Given the description of an element on the screen output the (x, y) to click on. 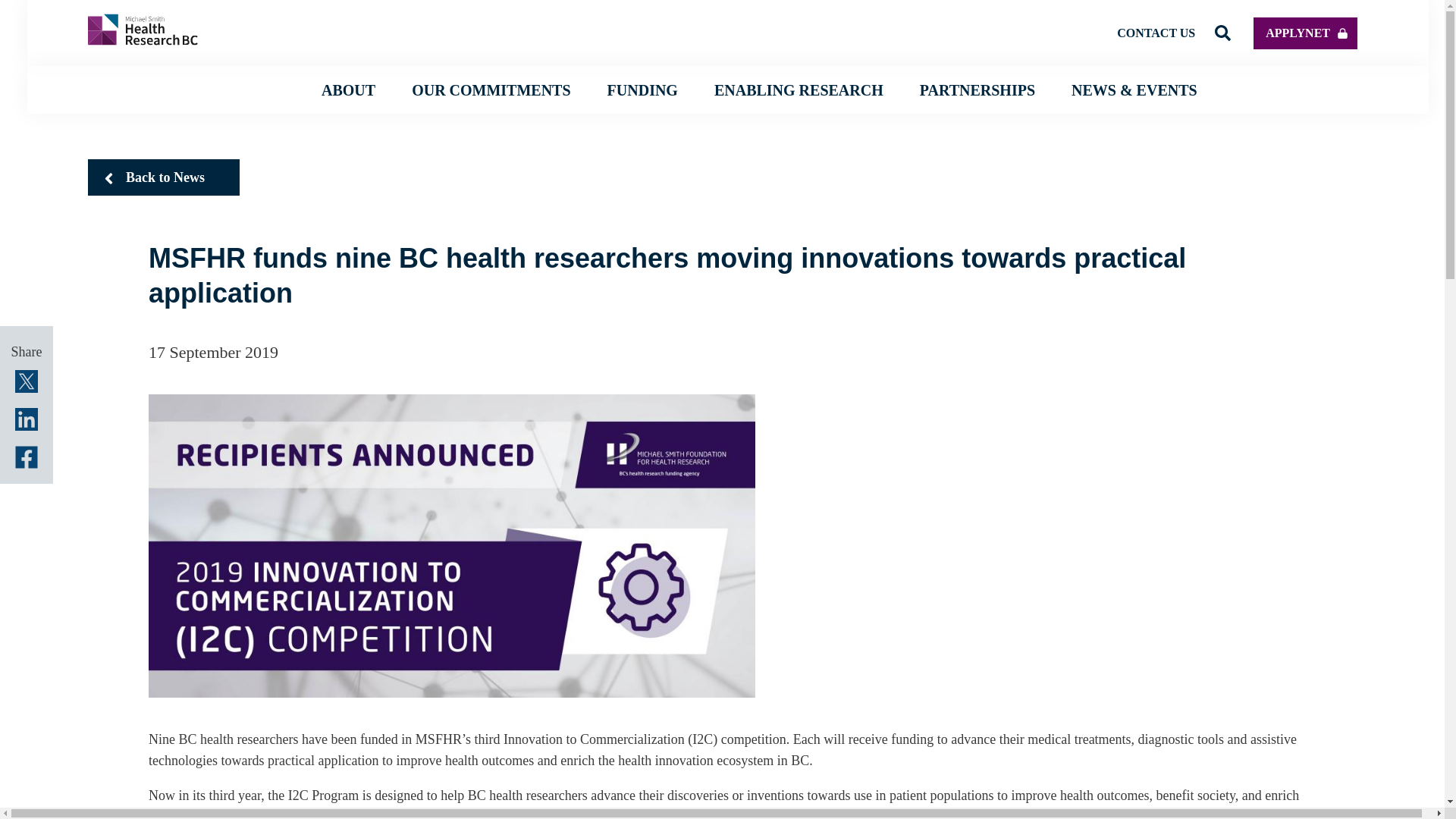
CONTACT US (1155, 32)
APPLYNET (1304, 32)
ENABLING RESEARCH (798, 89)
ABOUT (348, 89)
FUNDING (642, 89)
OUR COMMITMENTS (491, 89)
